Given the description of an element on the screen output the (x, y) to click on. 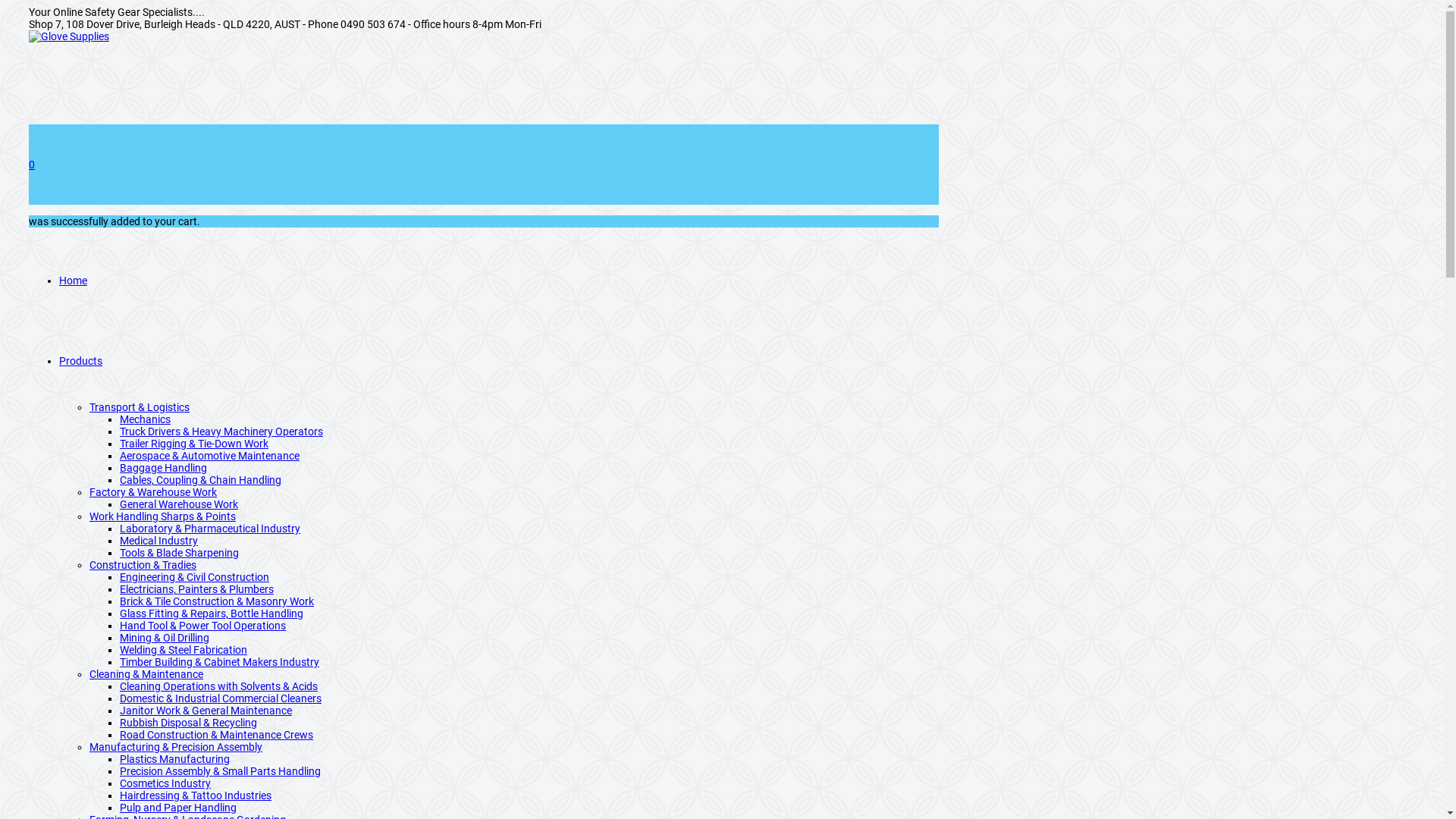
Factory & Warehouse Work Element type: text (152, 492)
Tools & Blade Sharpening Element type: text (178, 552)
Products Element type: text (80, 360)
Hand Tool & Power Tool Operations Element type: text (202, 625)
Baggage Handling Element type: text (163, 467)
Truck Drivers & Heavy Machinery Operators Element type: text (221, 431)
Timber Building & Cabinet Makers Industry Element type: text (219, 661)
Laboratory & Pharmaceutical Industry Element type: text (209, 528)
Precision Assembly & Small Parts Handling Element type: text (219, 771)
Transport & Logistics Element type: text (139, 407)
Pulp and Paper Handling Element type: text (177, 807)
Brick & Tile Construction & Masonry Work Element type: text (216, 601)
Welding & Steel Fabrication Element type: text (183, 649)
Cosmetics Industry Element type: text (164, 783)
Mechanics Element type: text (144, 419)
Medical Industry Element type: text (158, 540)
Mining & Oil Drilling Element type: text (164, 637)
Aerospace & Automotive Maintenance Element type: text (209, 455)
Cleaning & Maintenance Element type: text (146, 674)
Janitor Work & General Maintenance Element type: text (205, 710)
Home Element type: text (73, 280)
Work Handling Sharps & Points Element type: text (162, 516)
Cleaning Operations with Solvents & Acids Element type: text (218, 686)
Hairdressing & Tattoo Industries Element type: text (195, 795)
Manufacturing & Precision Assembly Element type: text (175, 746)
Engineering & Civil Construction Element type: text (194, 577)
Rubbish Disposal & Recycling Element type: text (188, 722)
Glove Supplies Element type: hover (68, 36)
Electricians, Painters & Plumbers Element type: text (196, 589)
Glass Fitting & Repairs, Bottle Handling Element type: text (211, 613)
0 Element type: text (483, 164)
Cables, Coupling & Chain Handling Element type: text (200, 479)
General Warehouse Work Element type: text (178, 504)
Trailer Rigging & Tie-Down Work Element type: text (193, 443)
Road Construction & Maintenance Crews Element type: text (216, 734)
Construction & Tradies Element type: text (142, 564)
Domestic & Industrial Commercial Cleaners Element type: text (220, 698)
Plastics Manufacturing Element type: text (174, 759)
